Given the description of an element on the screen output the (x, y) to click on. 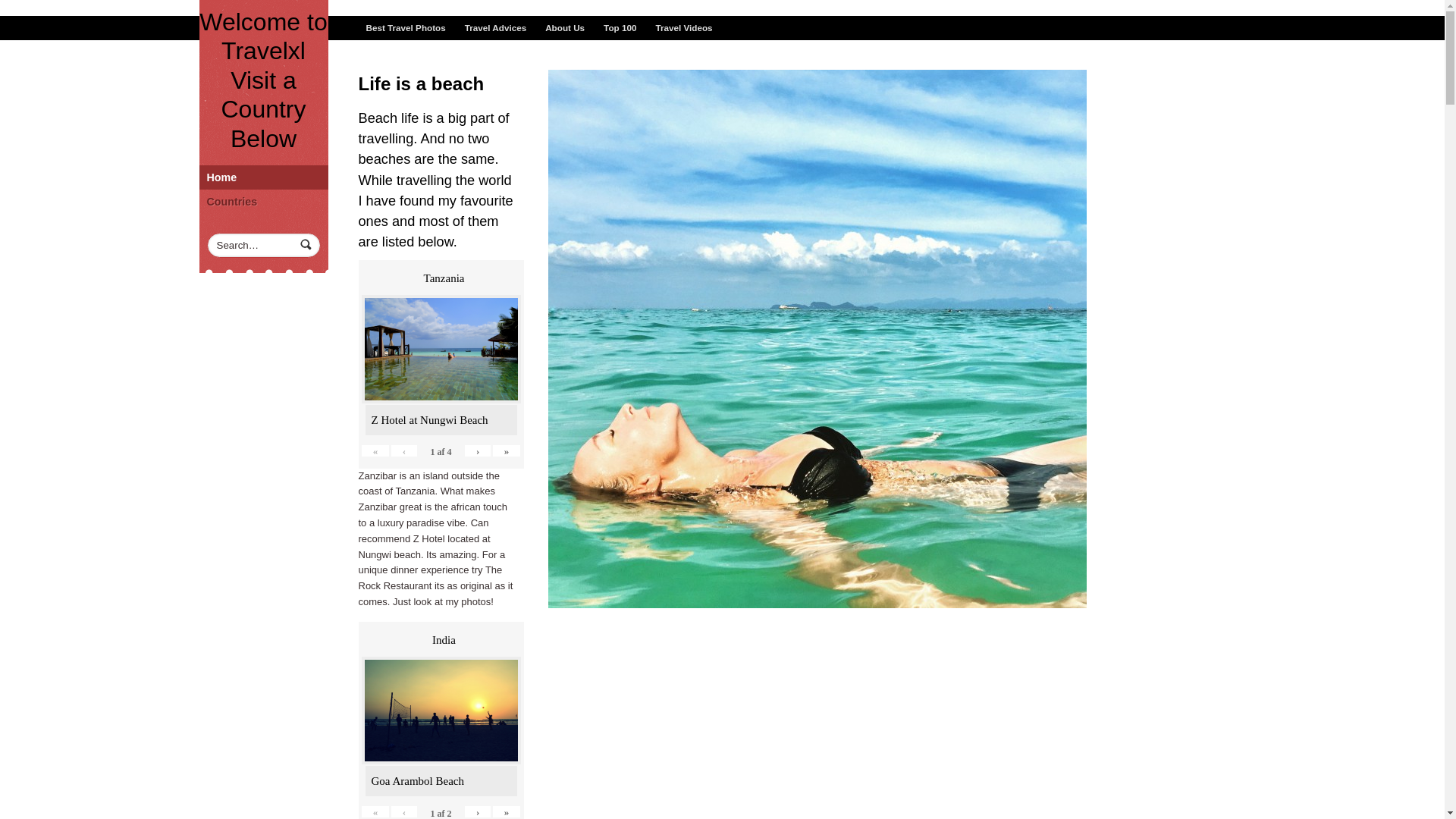
Top 100 (619, 27)
Best Travel Photos (405, 27)
Countries (262, 201)
Travel Videos (683, 27)
Travel Advices (495, 27)
Home (262, 177)
About Us (564, 27)
